Given the description of an element on the screen output the (x, y) to click on. 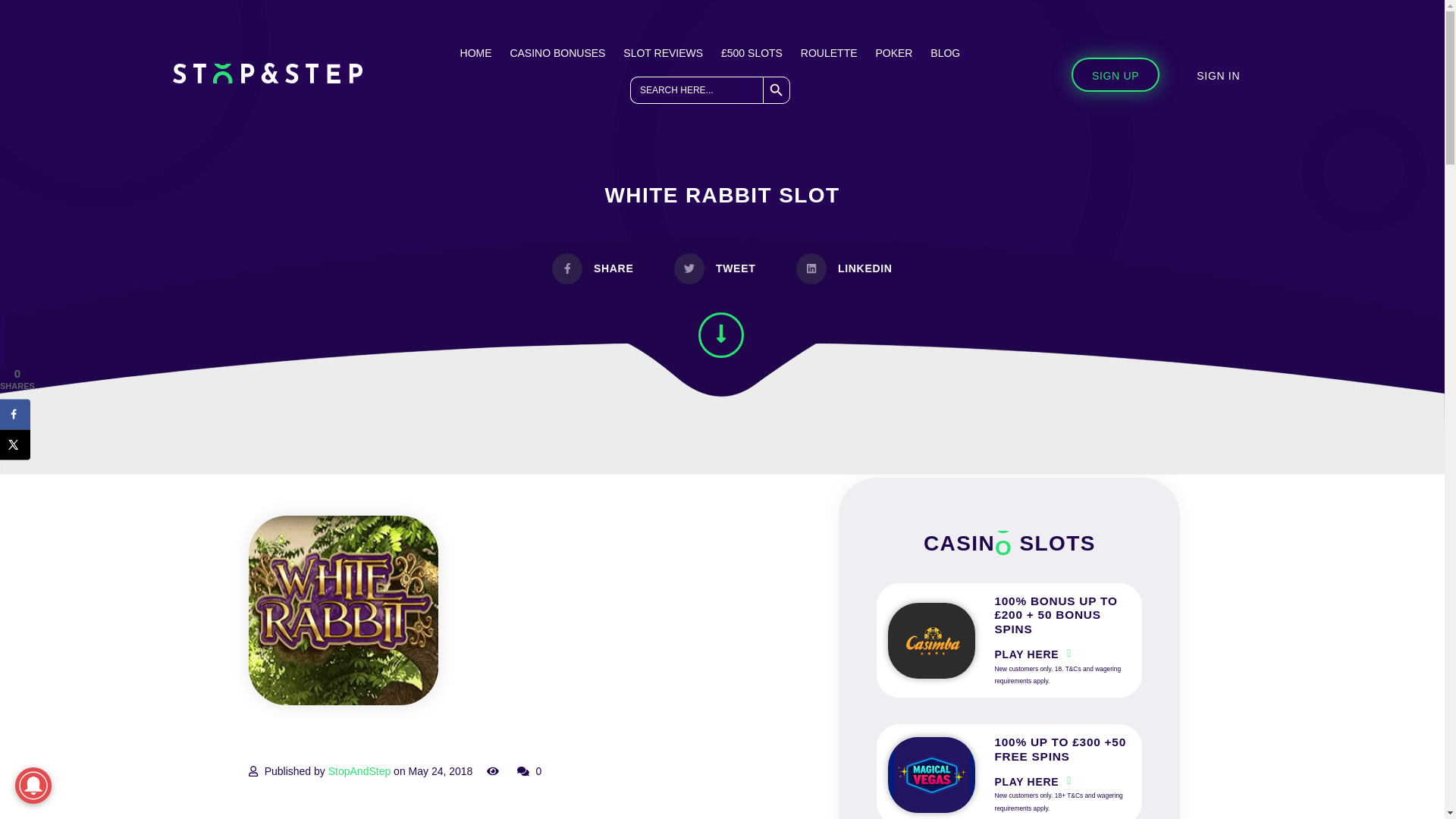
PLAY HERE (1026, 781)
POKER (893, 52)
Share on X (15, 444)
CASINO BONUSES (557, 52)
SLOT REVIEWS (663, 52)
BLOG (944, 52)
HOME (476, 52)
SIGN UP (1114, 74)
TWEET (714, 268)
LINKEDIN (843, 268)
